Given the description of an element on the screen output the (x, y) to click on. 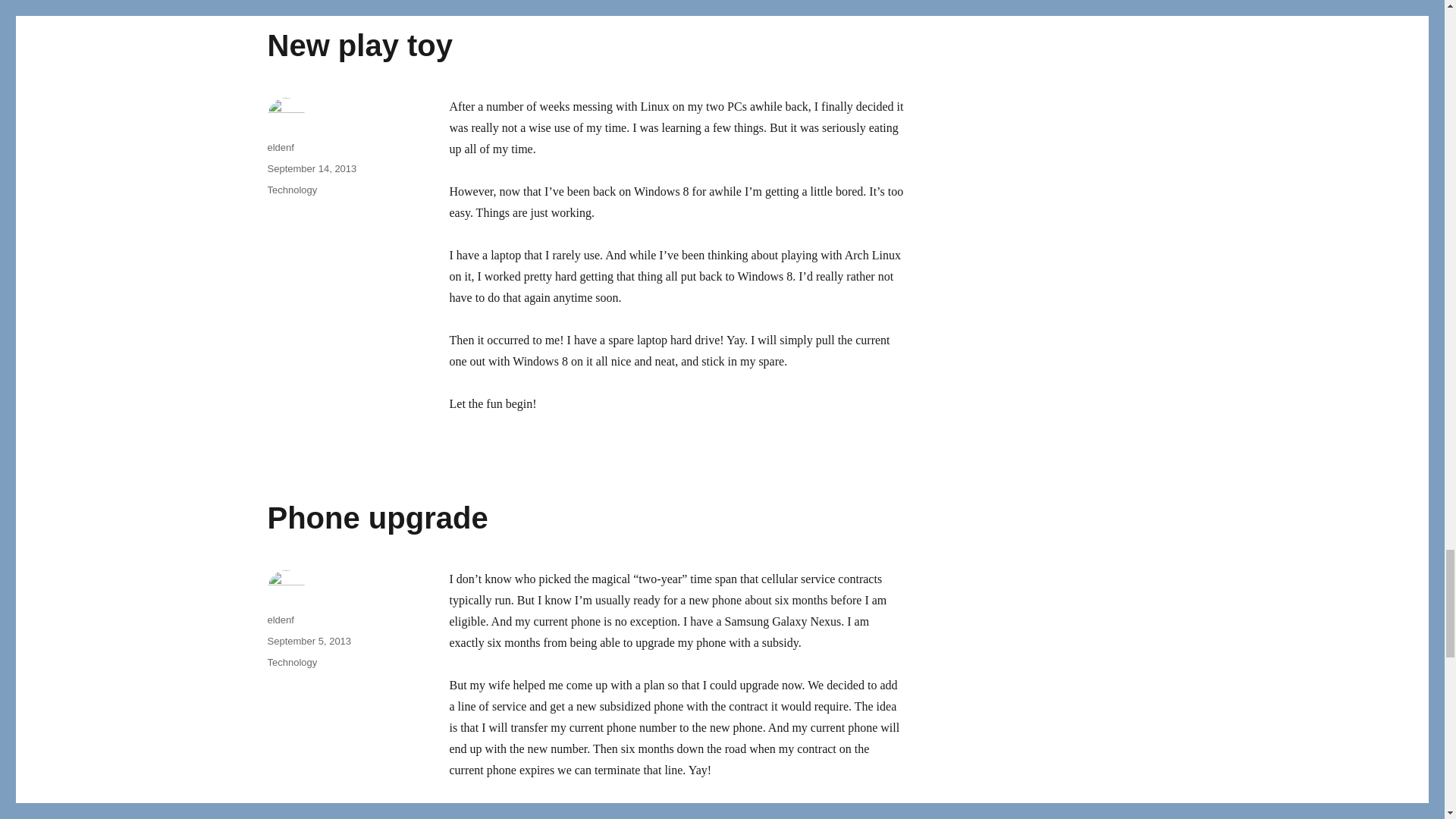
Phone upgrade (376, 517)
eldenf (280, 619)
Technology (291, 662)
Technology (291, 189)
September 14, 2013 (311, 168)
eldenf (280, 147)
New play toy (359, 45)
September 5, 2013 (308, 641)
